Given the description of an element on the screen output the (x, y) to click on. 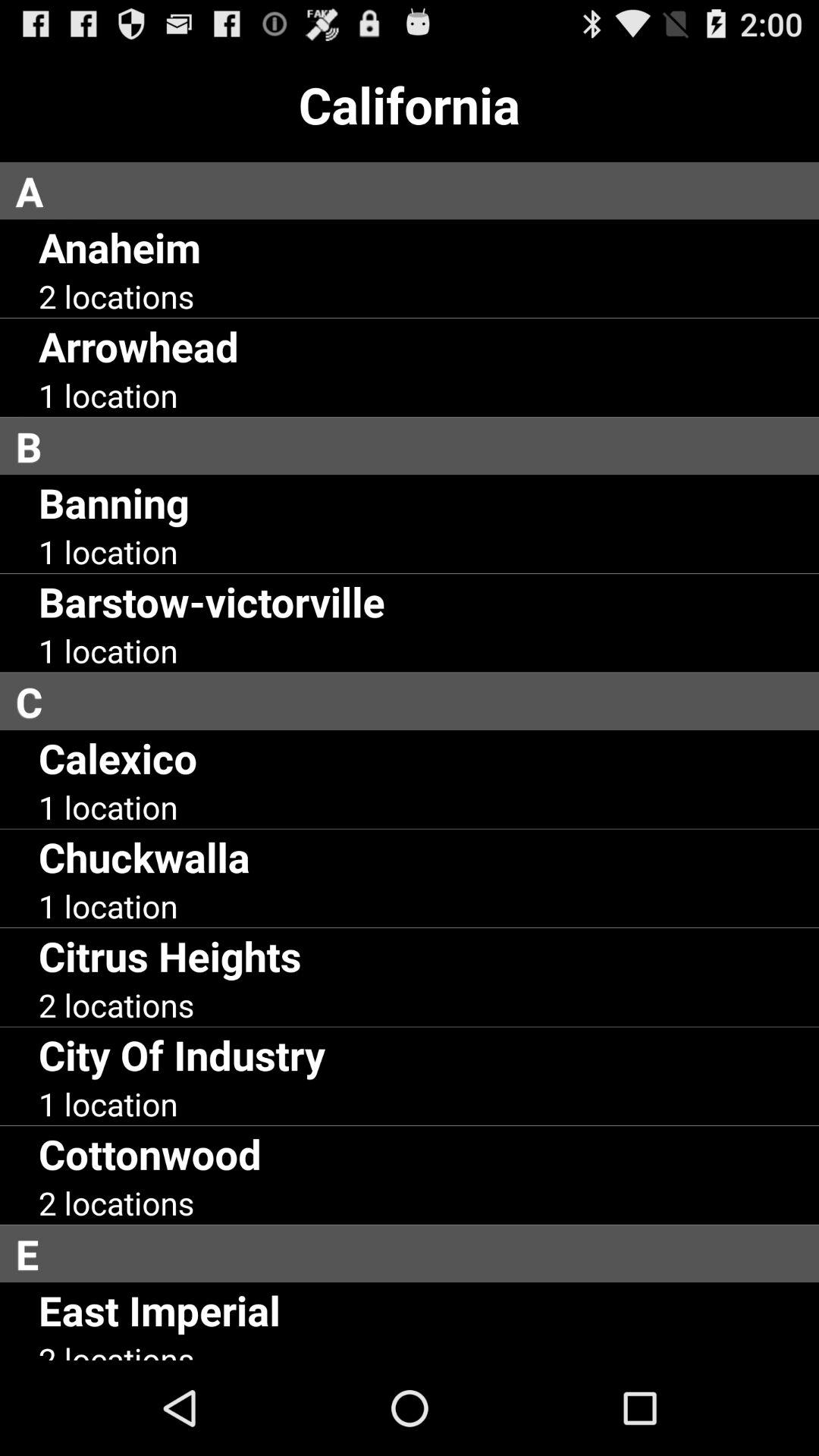
scroll to e (417, 1253)
